Given the description of an element on the screen output the (x, y) to click on. 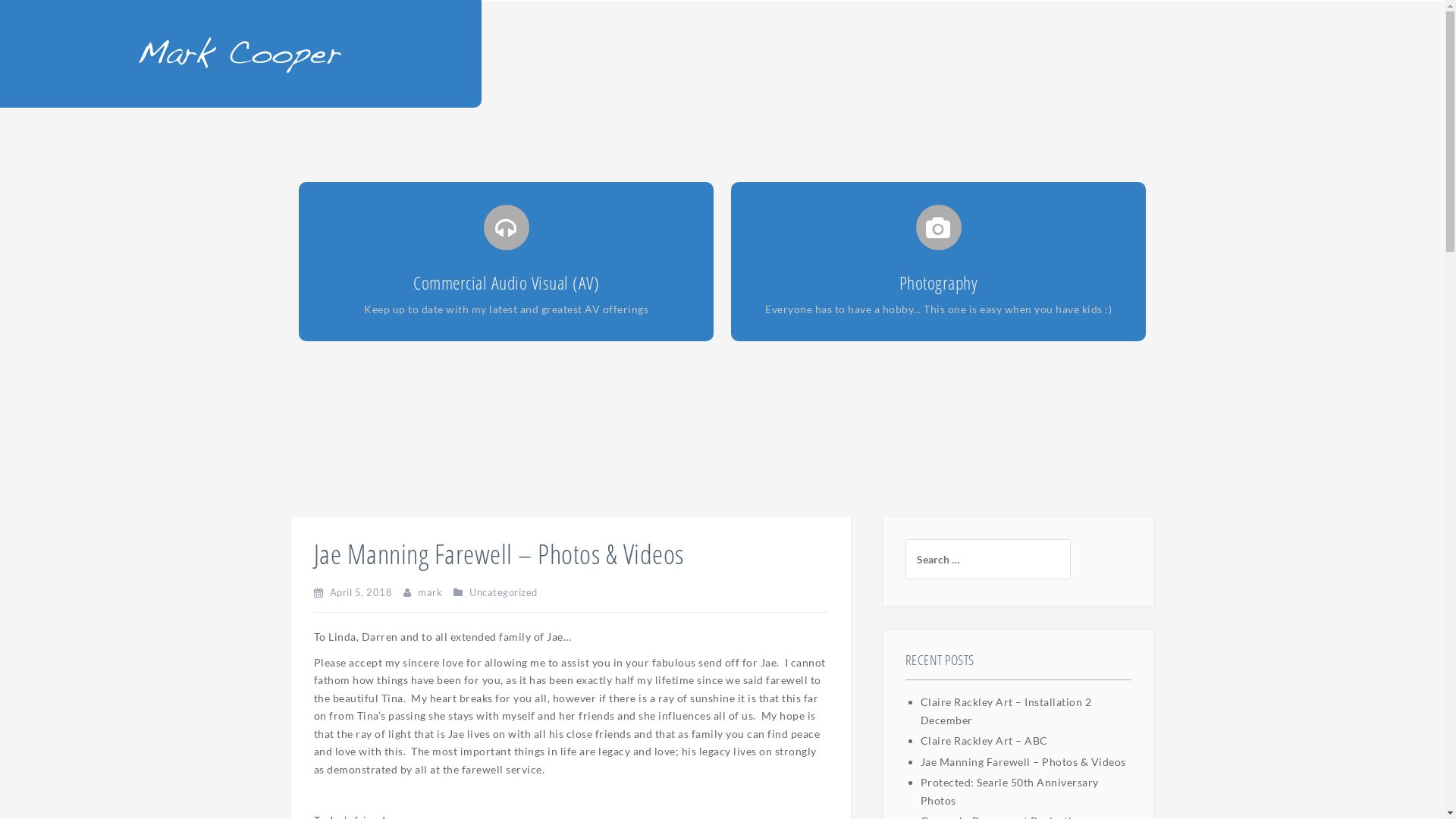
April 5, 2018 Element type: text (360, 591)
mark Element type: text (429, 591)
[Mark Cooper] Element type: hover (240, 52)
Skip to content Element type: text (0, 0)
Protected: Searle 50th Anniversary Photos Element type: text (1009, 790)
Uncategorized Element type: text (503, 591)
Search Element type: text (35, 20)
